Given the description of an element on the screen output the (x, y) to click on. 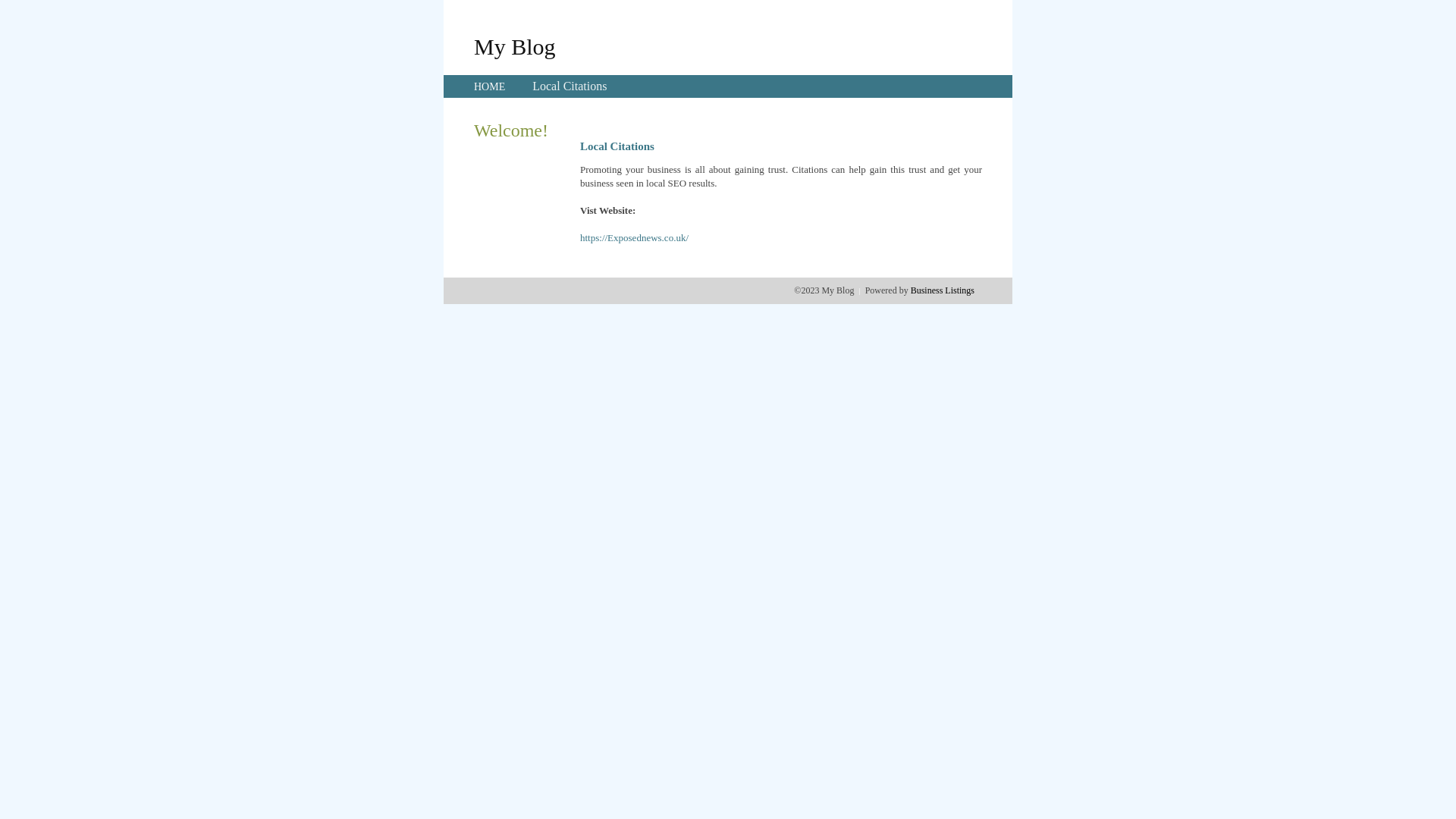
HOME Element type: text (489, 86)
Business Listings Element type: text (942, 290)
My Blog Element type: text (514, 46)
Local Citations Element type: text (569, 85)
https://Exposednews.co.uk/ Element type: text (634, 237)
